Given the description of an element on the screen output the (x, y) to click on. 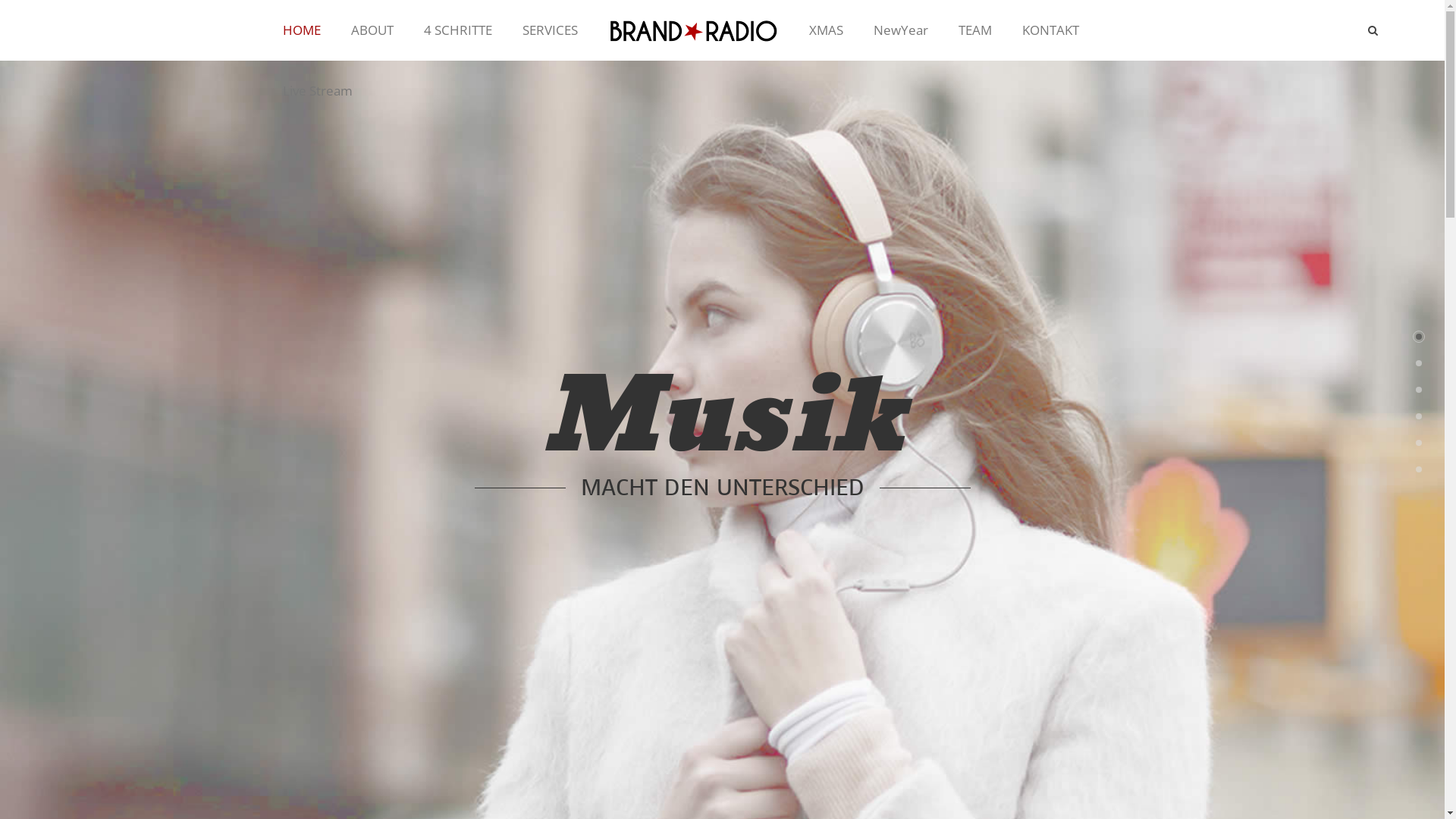
SERVICES Element type: text (549, 30)
4 SCHRITTE Element type: text (456, 30)
HOME Element type: text (300, 30)
ABOUT Element type: text (371, 30)
XMAS Element type: text (825, 30)
NewYear Element type: text (900, 30)
TEAM Element type: text (975, 30)
Live Stream Element type: text (316, 90)
KONTAKT Element type: text (1050, 30)
